Given the description of an element on the screen output the (x, y) to click on. 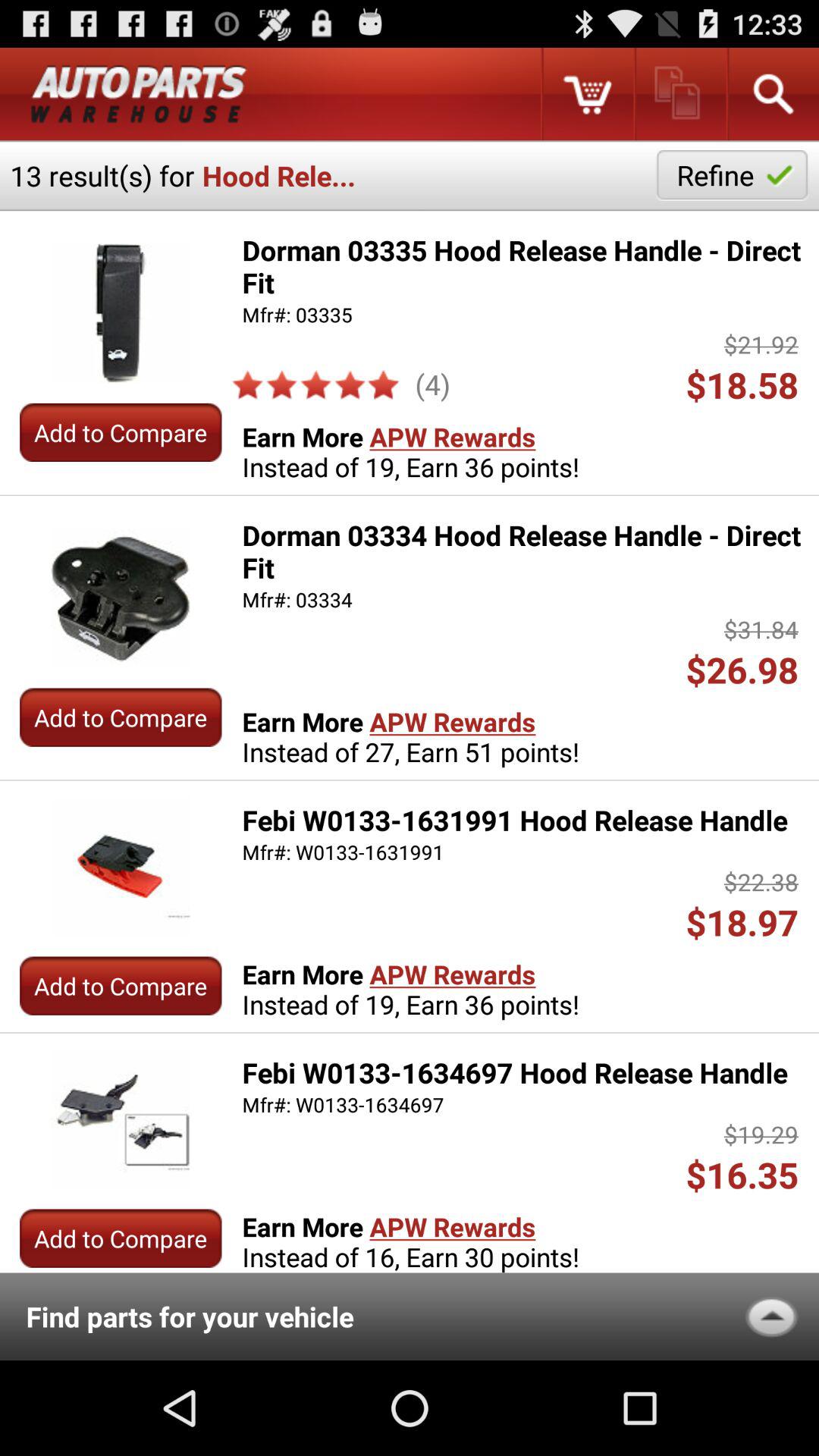
home (138, 93)
